Given the description of an element on the screen output the (x, y) to click on. 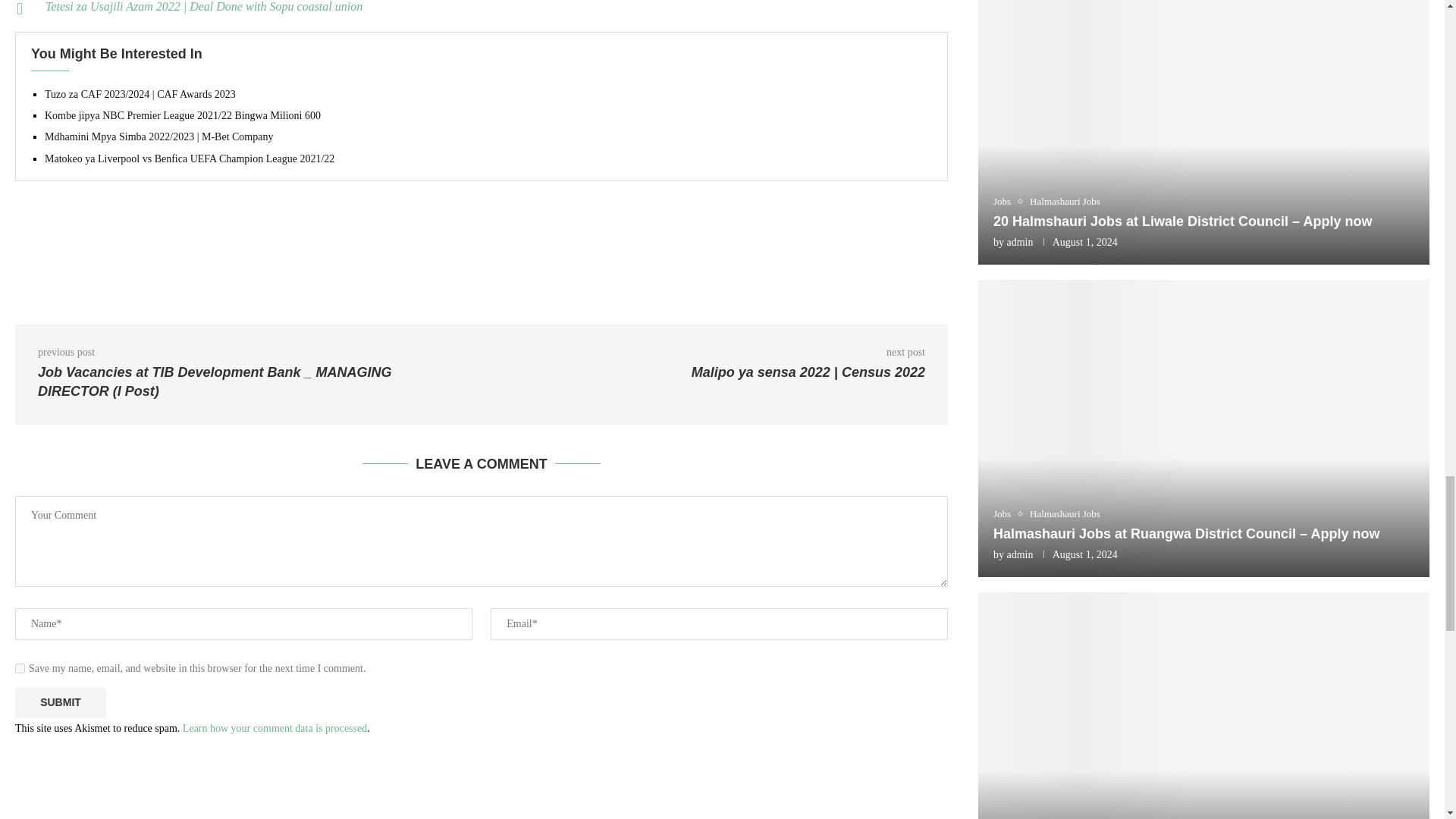
yes (19, 668)
Submit (60, 702)
